Given the description of an element on the screen output the (x, y) to click on. 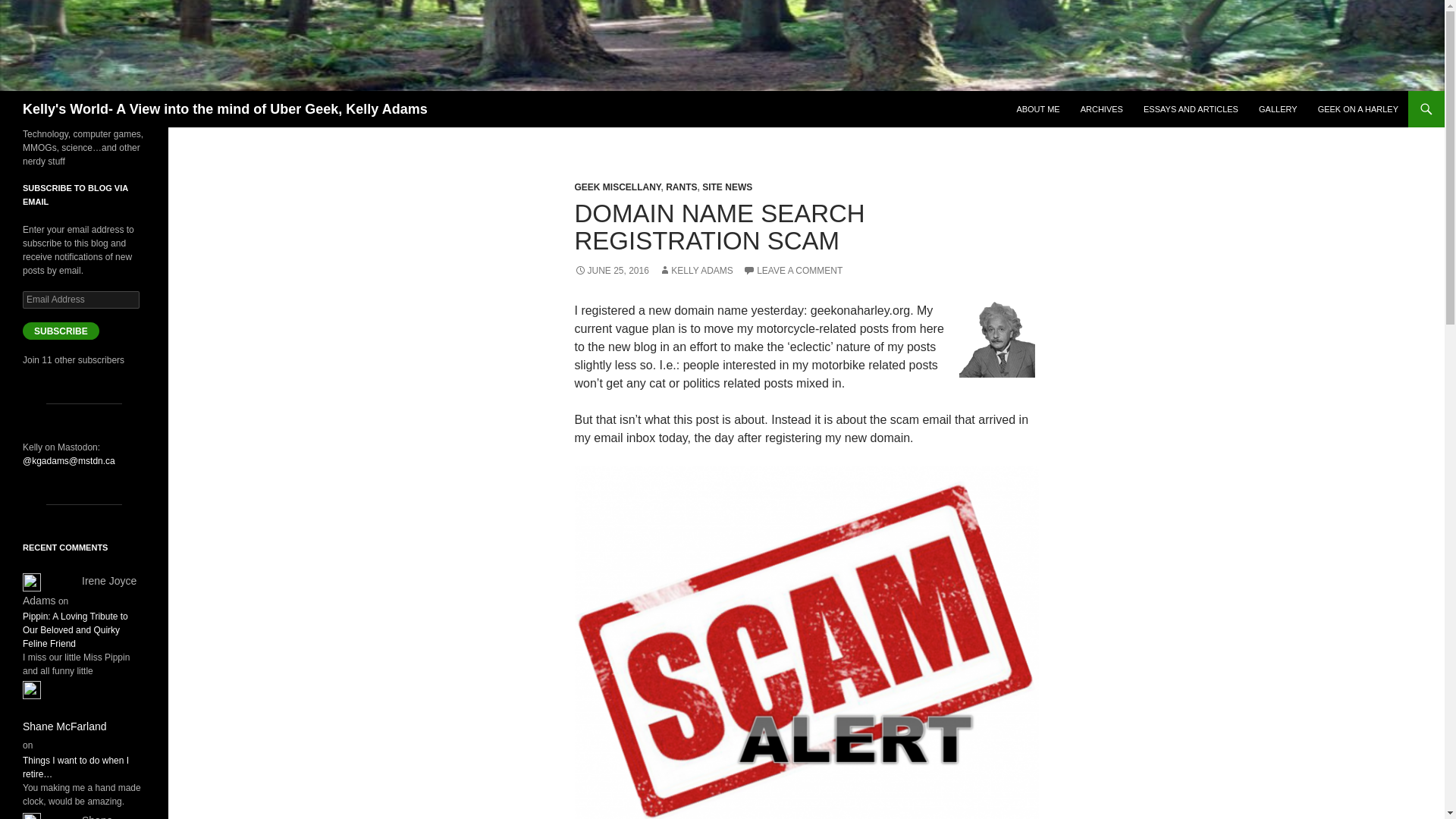
ESSAYS AND ARTICLES (1190, 108)
ABOUT ME (1037, 108)
ARCHIVES (1101, 108)
